Given the description of an element on the screen output the (x, y) to click on. 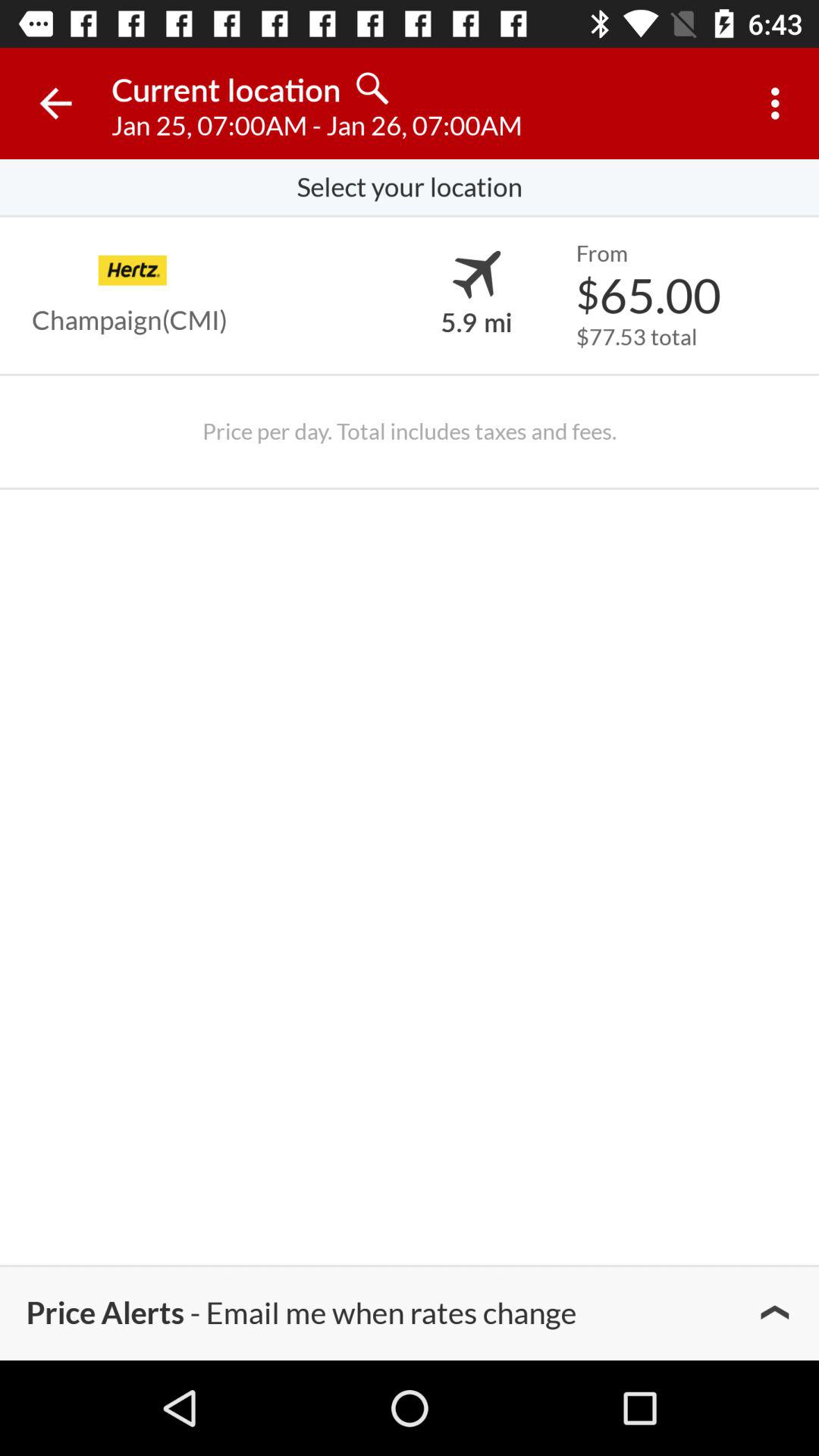
turn on item to the right of champaign(cmi) icon (475, 321)
